Given the description of an element on the screen output the (x, y) to click on. 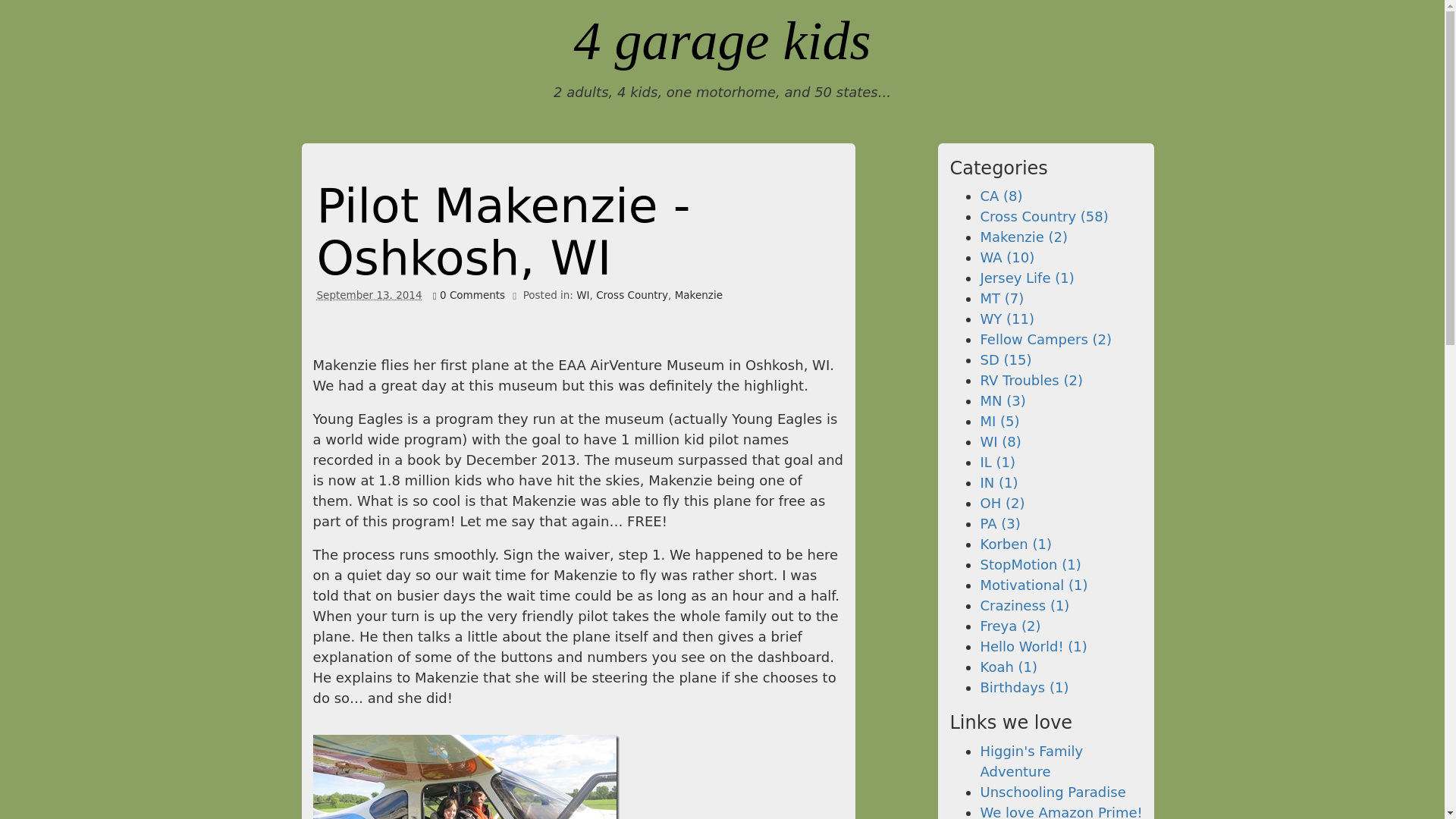
We love Amazon Prime! (1060, 811)
Cross Country (631, 295)
Makenzie (698, 295)
Higgin's Family Adventure (1031, 760)
WI (582, 295)
Pilot Makenzie - Oshkosh, WI (503, 231)
Unschooling Paradise (1052, 791)
4 garage kids (721, 40)
0 Comments (468, 295)
